Given the description of an element on the screen output the (x, y) to click on. 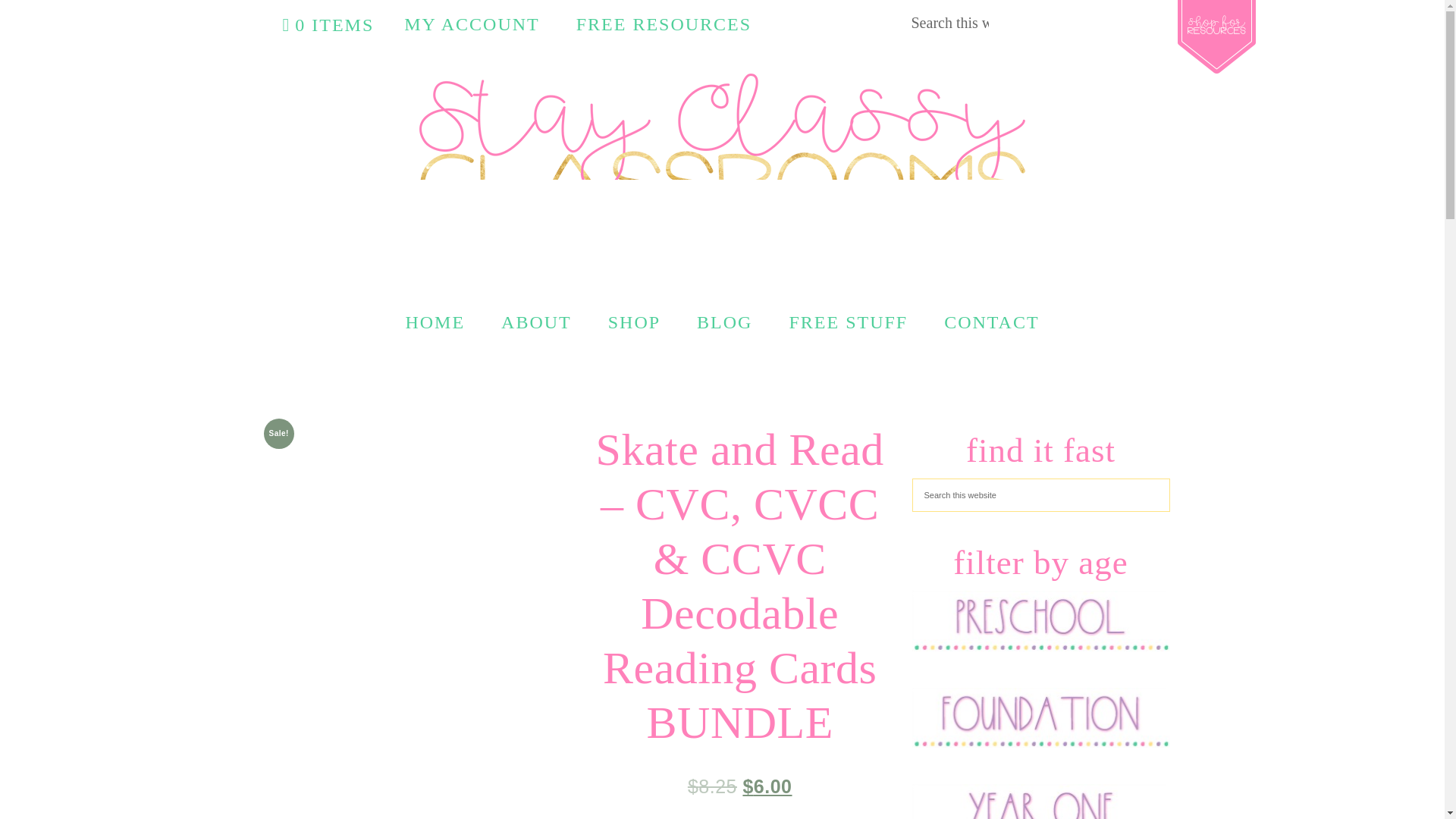
0 ITEMS (327, 25)
ABOUT (536, 322)
MY ACCOUNT (471, 24)
CONTACT (991, 322)
SHOP (633, 322)
FREE STUFF (848, 322)
BLOG (724, 322)
FREE RESOURCES (663, 24)
